Given the description of an element on the screen output the (x, y) to click on. 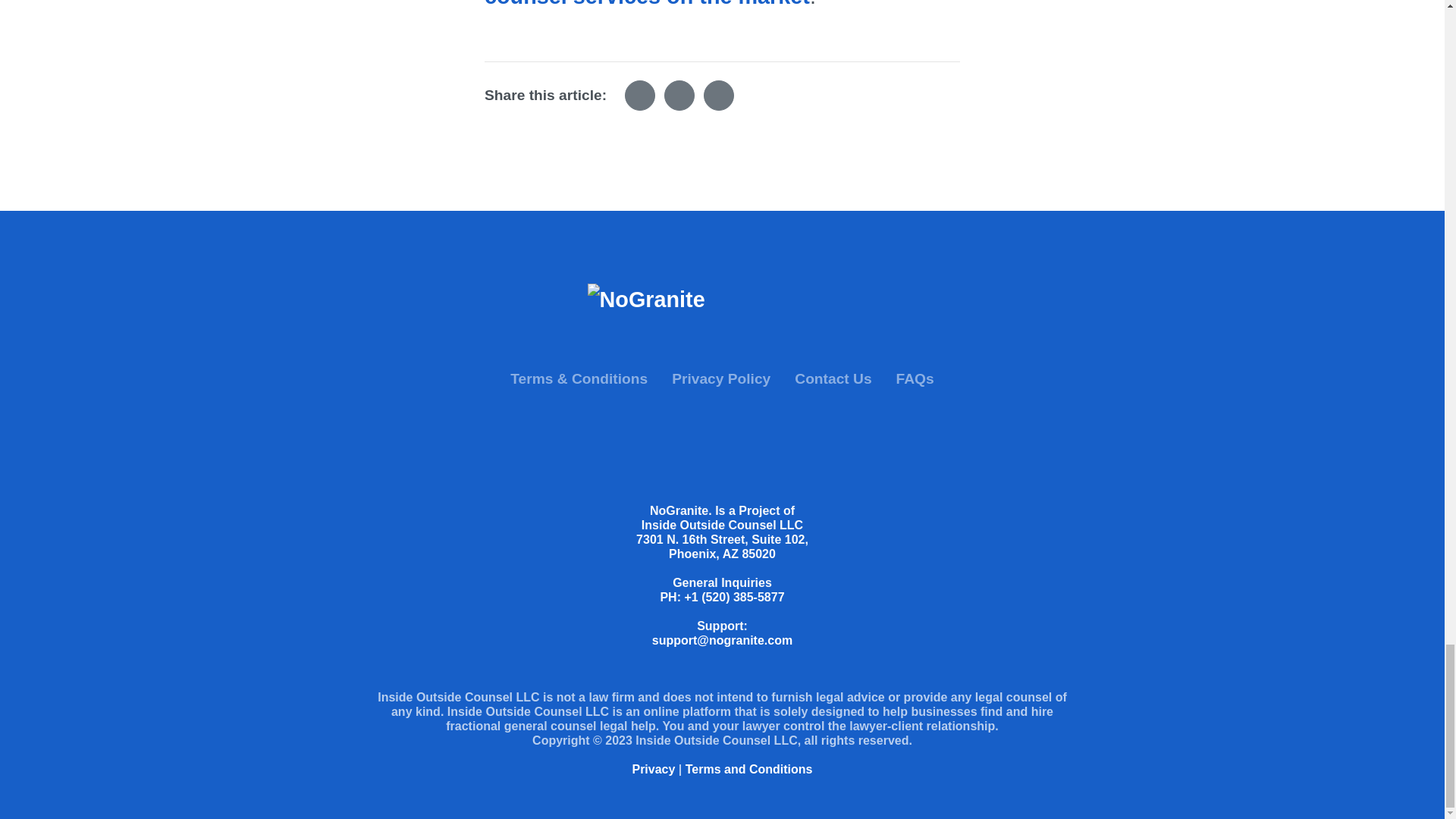
Terms and Conditions (748, 768)
Contact Us (833, 379)
Privacy Policy (721, 379)
FAQs (914, 379)
Privacy (653, 768)
